Given the description of an element on the screen output the (x, y) to click on. 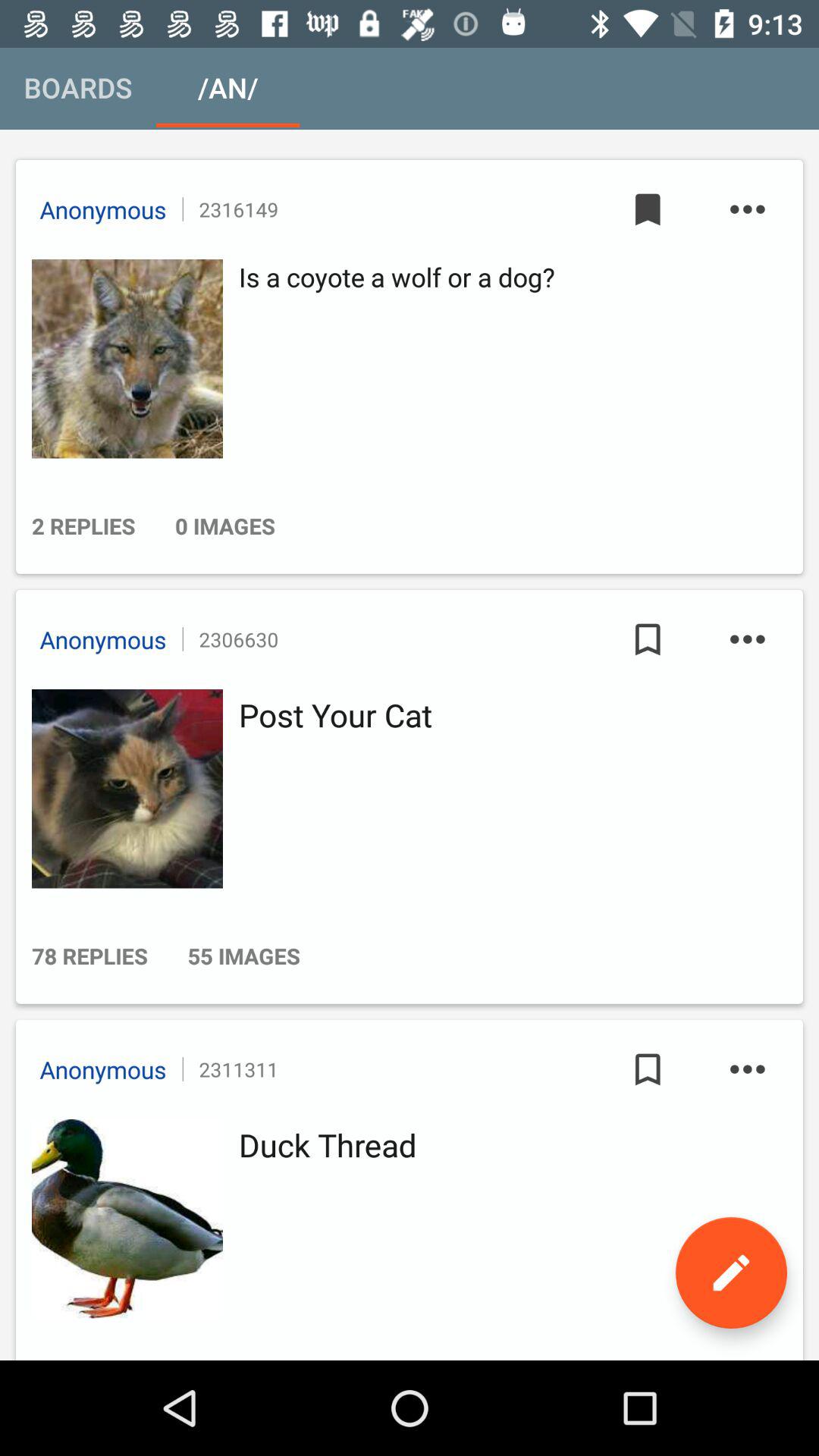
image thumnail (122, 358)
